Given the description of an element on the screen output the (x, y) to click on. 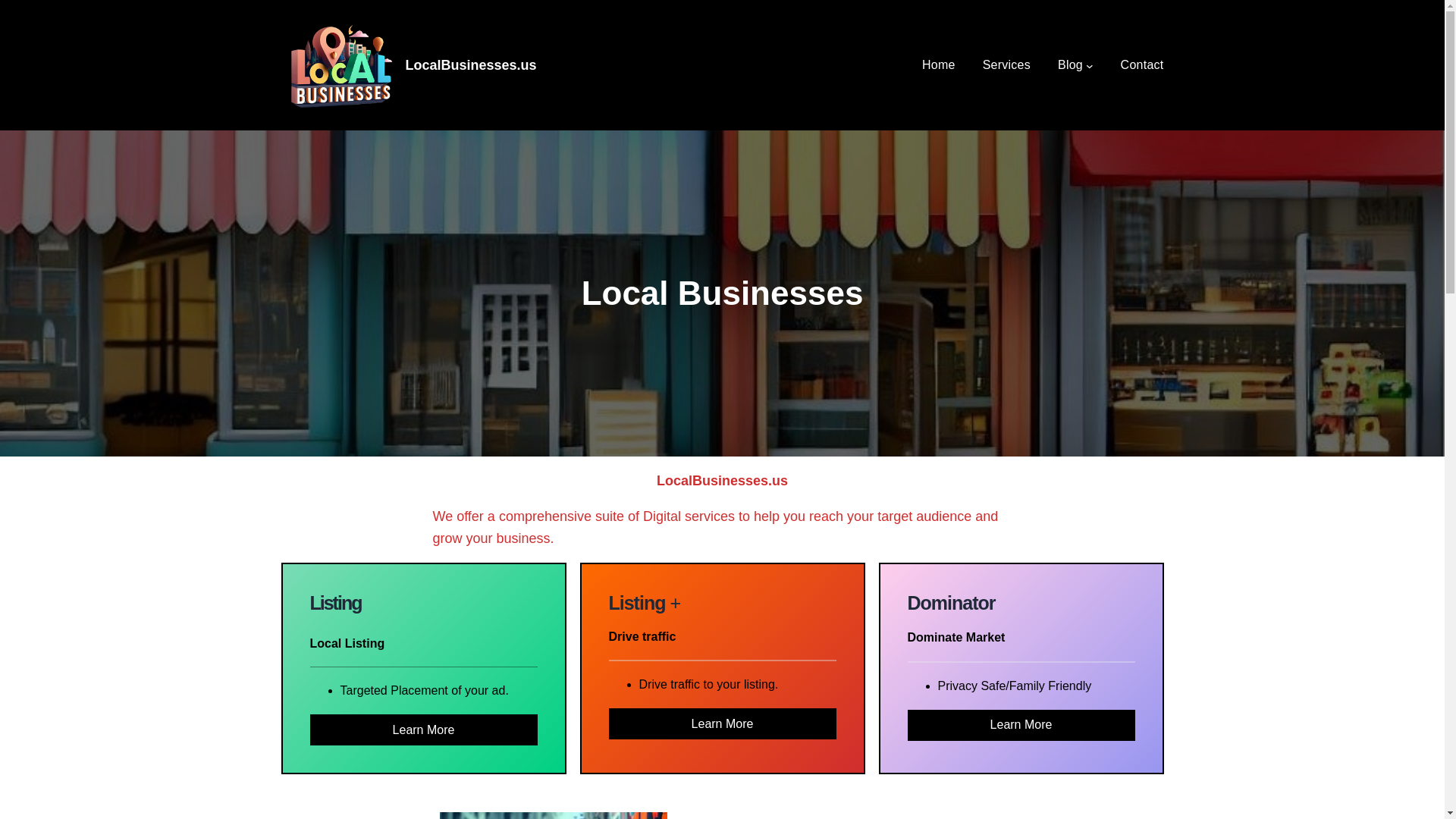
Services Element type: text (1006, 65)
Home Element type: text (938, 65)
Learn More Element type: text (1020, 724)
Learn More Element type: text (422, 729)
Learn More Element type: text (721, 723)
Contact Element type: text (1142, 65)
LocalBusinesses.us Element type: text (470, 64)
Blog Element type: text (1069, 65)
